Given the description of an element on the screen output the (x, y) to click on. 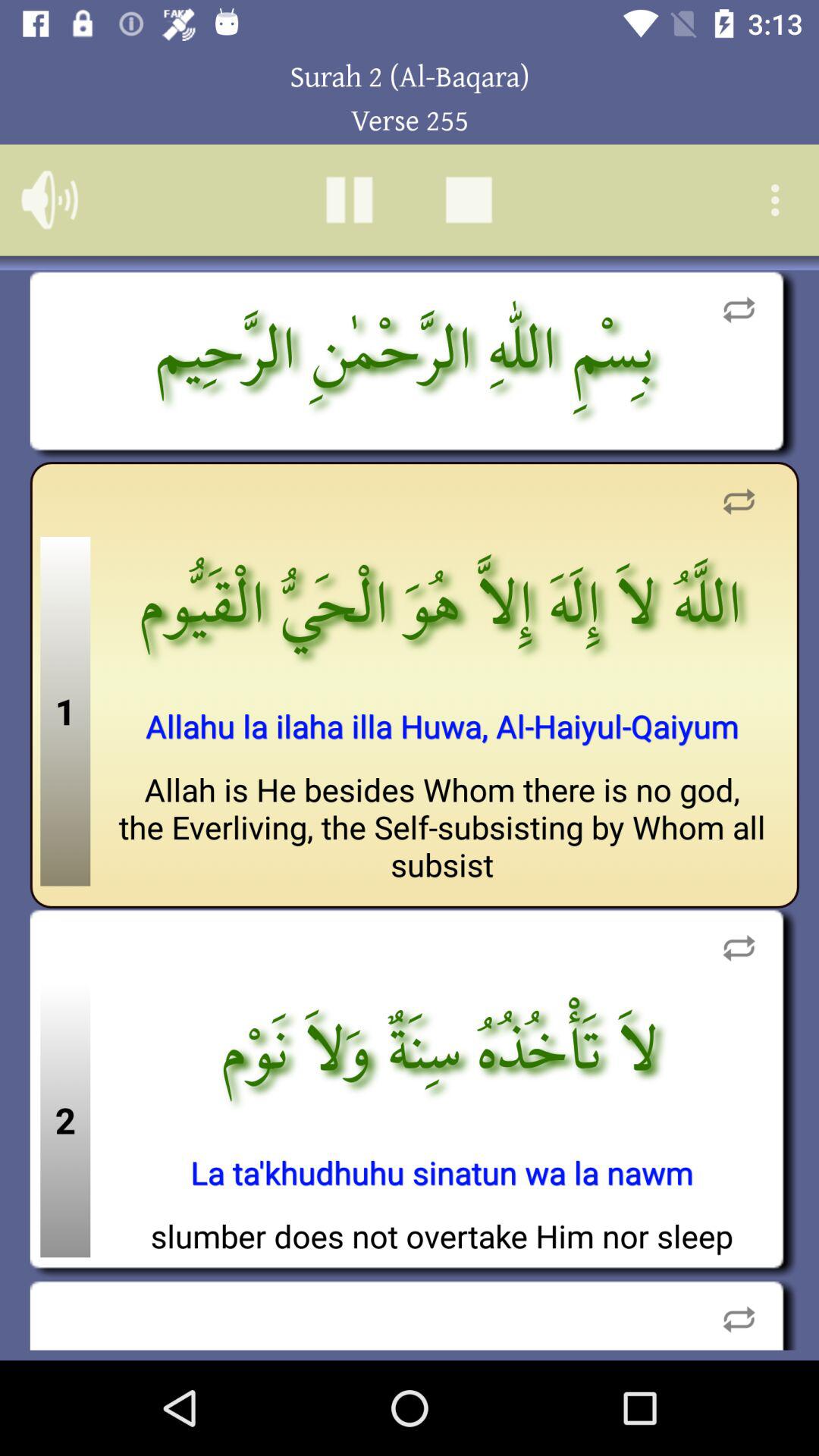
replay button (738, 501)
